Given the description of an element on the screen output the (x, y) to click on. 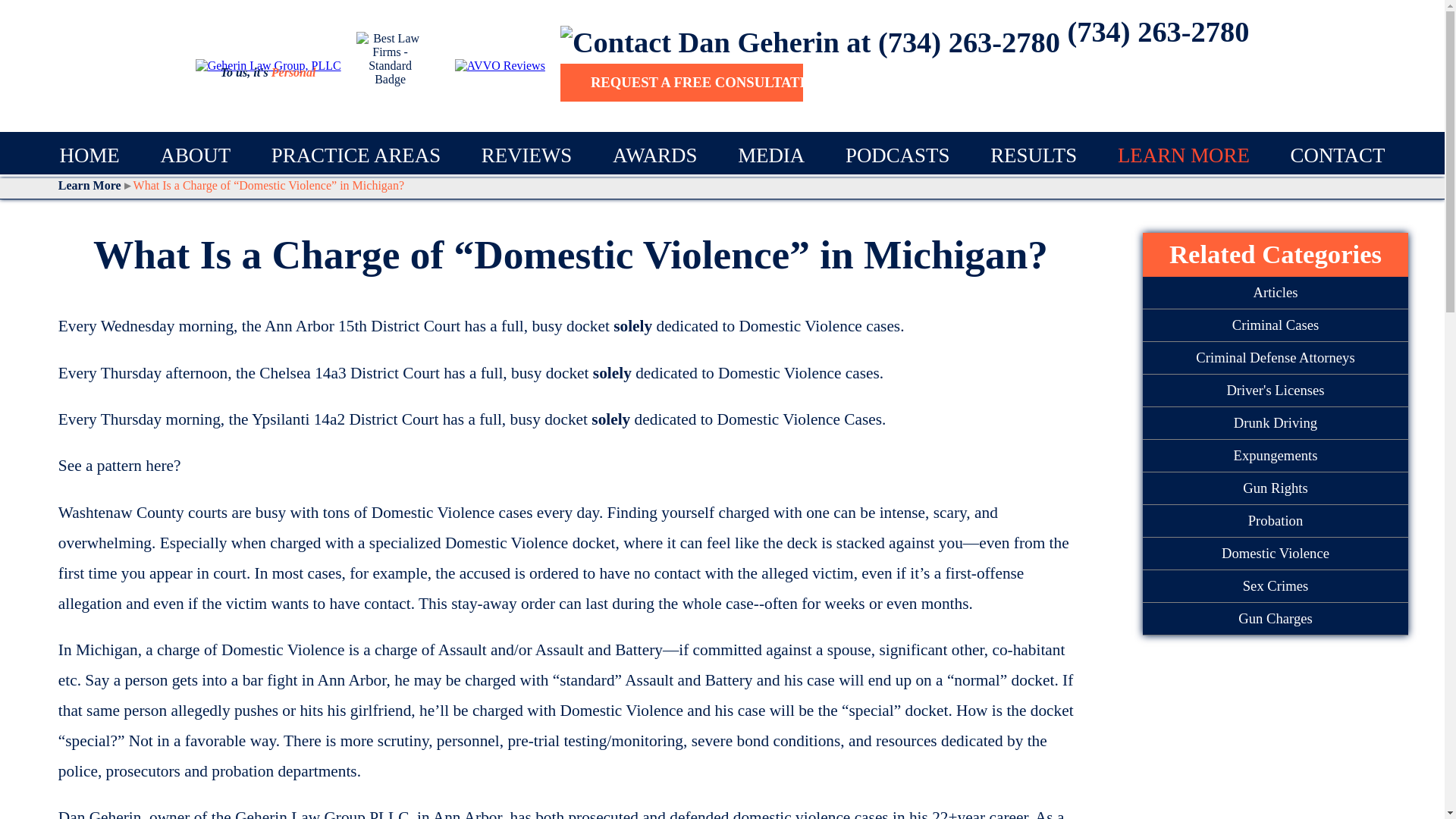
Criminal Cases (1274, 325)
RESULTS (1033, 155)
AWARDS (654, 155)
PRACTICE AREAS (355, 155)
Best Law Firms - Standard Badge (390, 65)
LEARN MORE (1183, 155)
CONTACT (1337, 155)
PODCASTS (897, 155)
REVIEWS (526, 155)
ABOUT (194, 155)
